Given the description of an element on the screen output the (x, y) to click on. 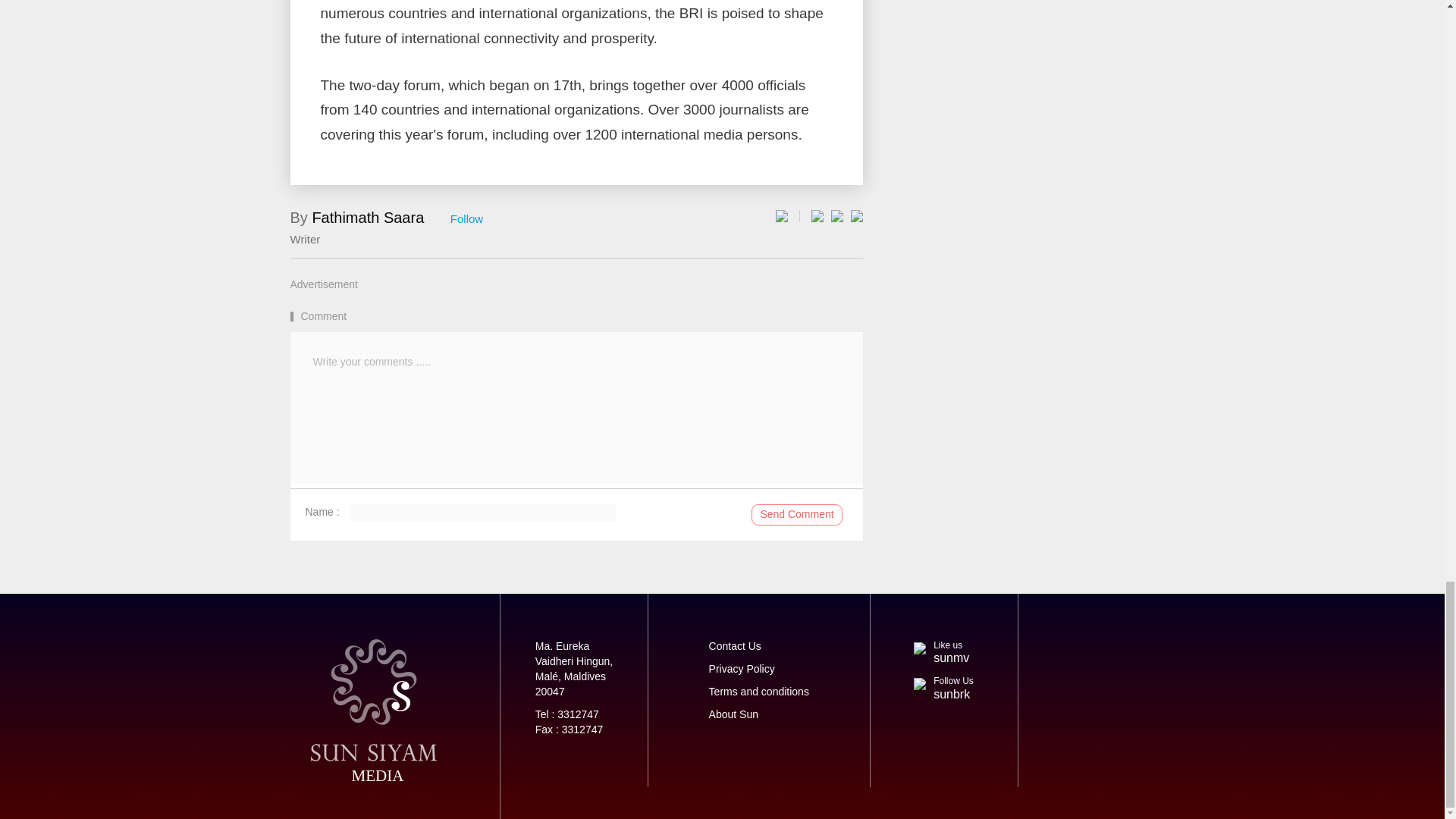
Fathimath Saara (367, 217)
